Given the description of an element on the screen output the (x, y) to click on. 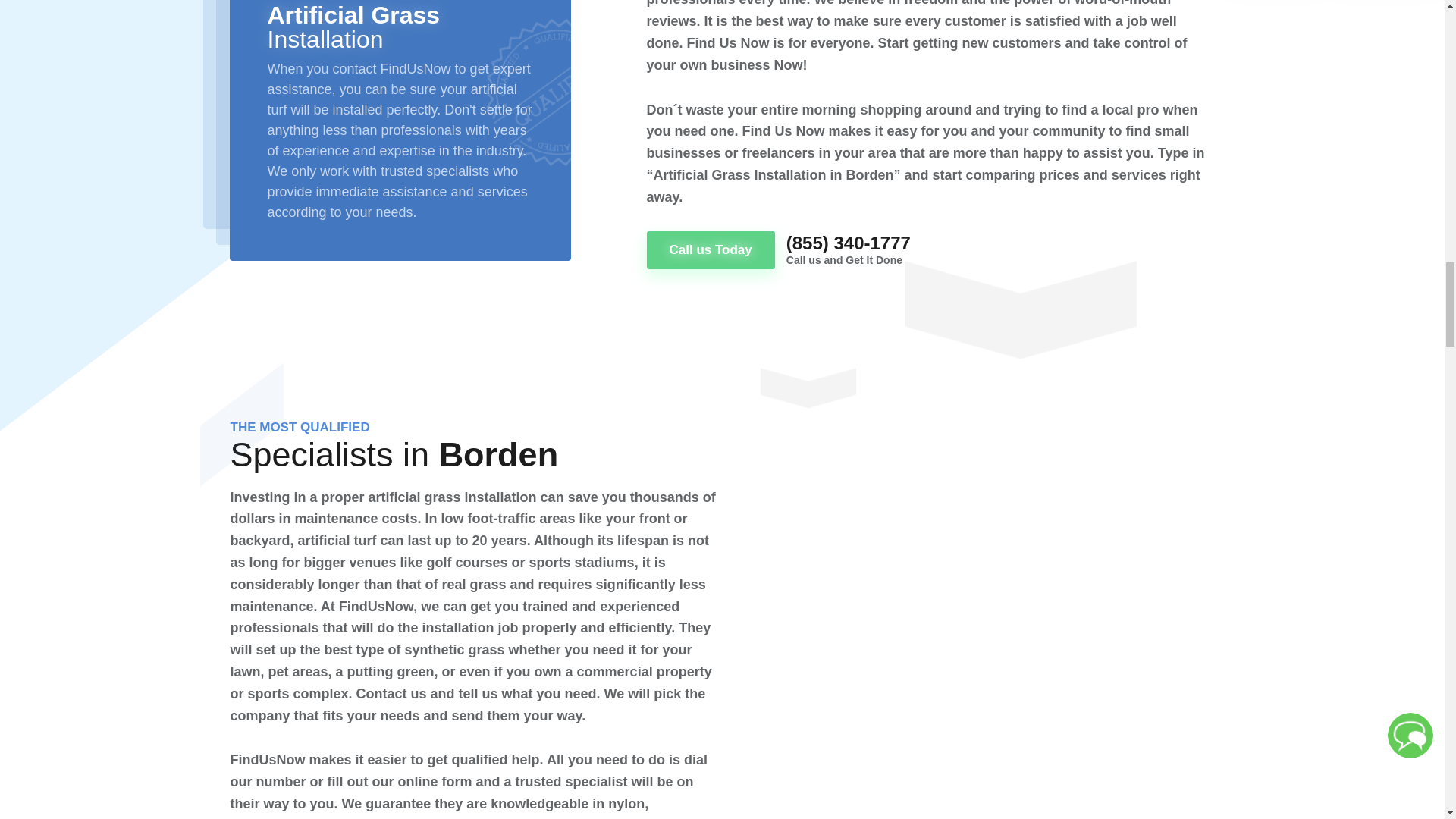
Call us Today (710, 249)
Call our specialists today (710, 249)
